Given the description of an element on the screen output the (x, y) to click on. 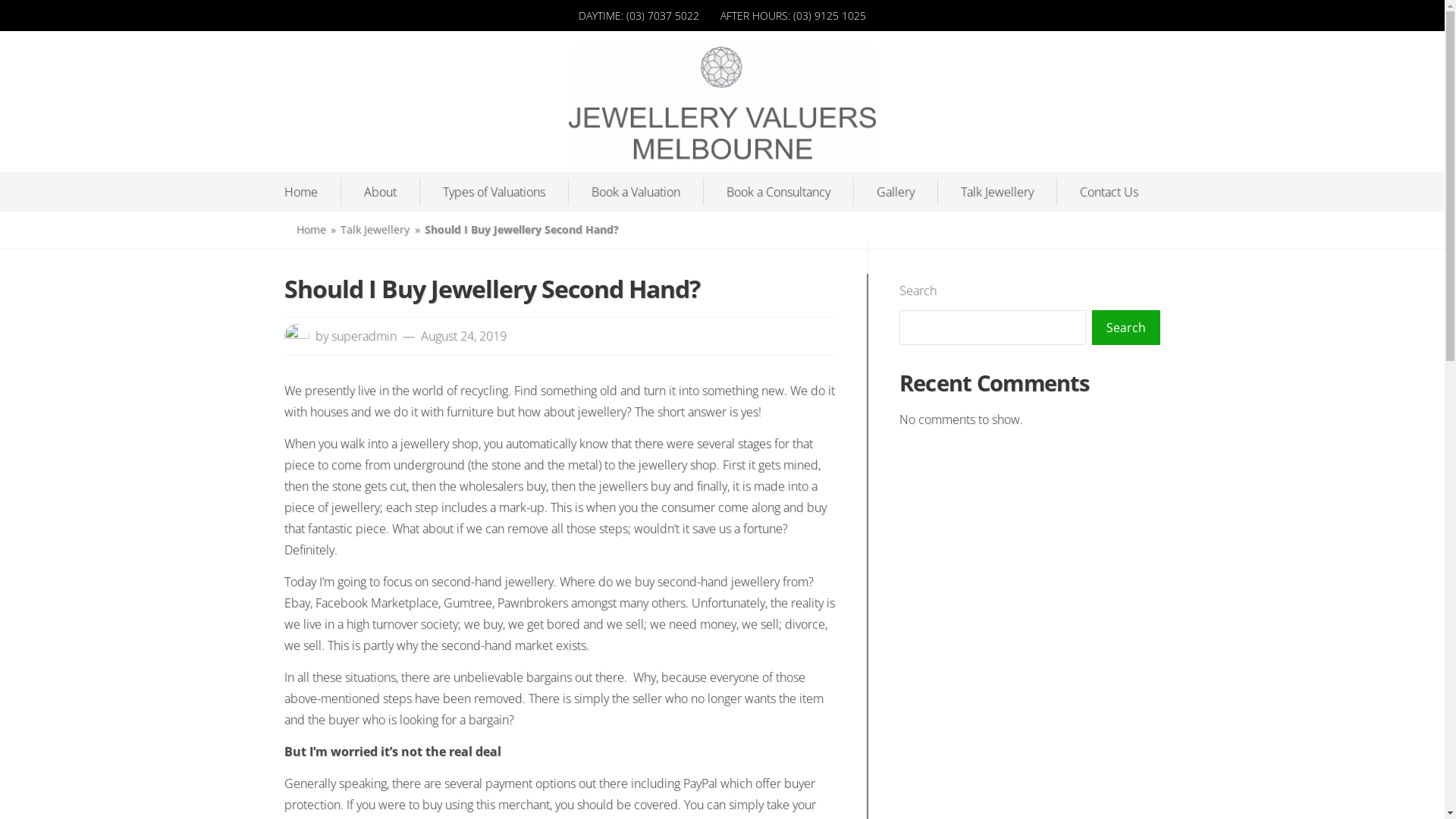
About Element type: text (380, 191)
Talk Jewellery Element type: text (996, 191)
Home Element type: text (299, 191)
Types of Valuations Element type: text (493, 191)
Gallery Element type: text (895, 191)
Book a Valuation Element type: text (635, 191)
Contact Us Element type: text (1108, 191)
Home Element type: text (310, 229)
Book a Consultancy Element type: text (778, 191)
Talk Jewellery Element type: text (374, 229)
Search Element type: text (1126, 327)
Jewellery Valuers Melbourne Element type: text (701, 198)
superadmin Element type: text (362, 335)
